Given the description of an element on the screen output the (x, y) to click on. 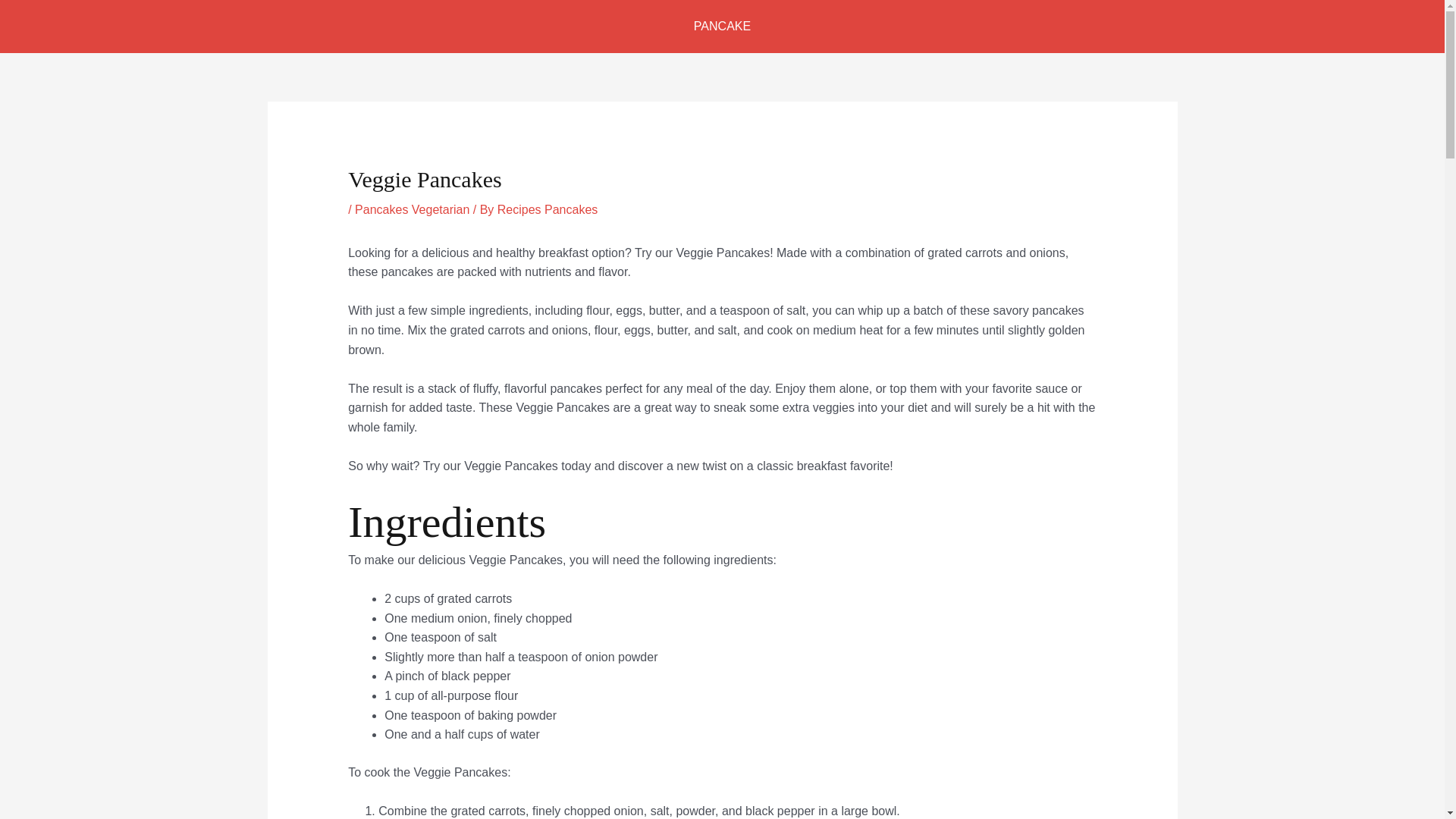
PANCAKE (721, 26)
Pancakes Vegetarian (411, 209)
Recipes Pancakes (547, 209)
View all posts by Recipes Pancakes (547, 209)
